Given the description of an element on the screen output the (x, y) to click on. 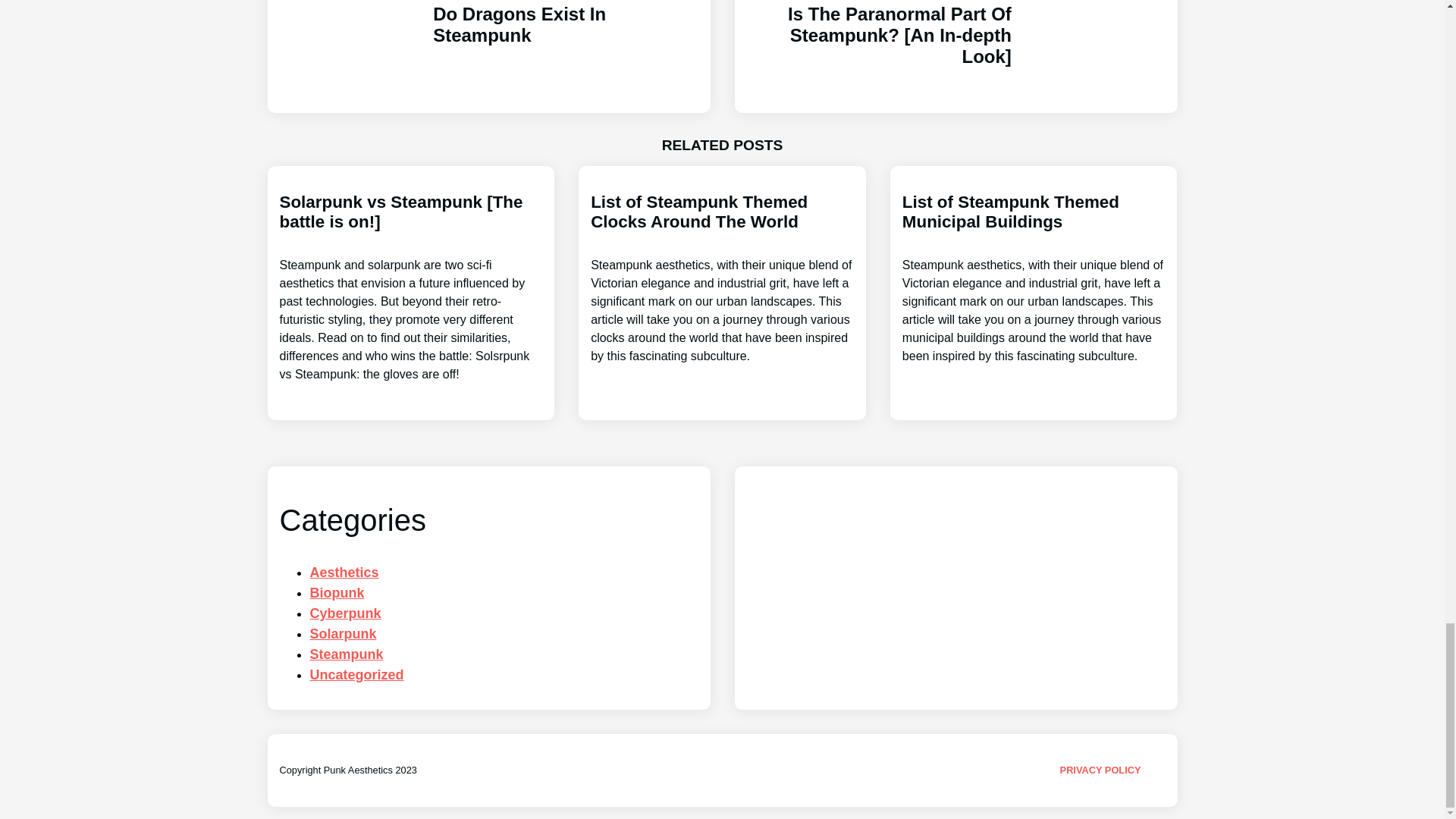
Solarpunk (341, 633)
Steampunk (345, 654)
Uncategorized (488, 56)
Biopunk (355, 674)
Cyberpunk (336, 592)
List of Steampunk Themed Municipal Buildings (344, 613)
List of Steampunk Themed Clocks Around The World (1034, 278)
Aesthetics (722, 278)
PRIVACY POLICY (343, 572)
